Given the description of an element on the screen output the (x, y) to click on. 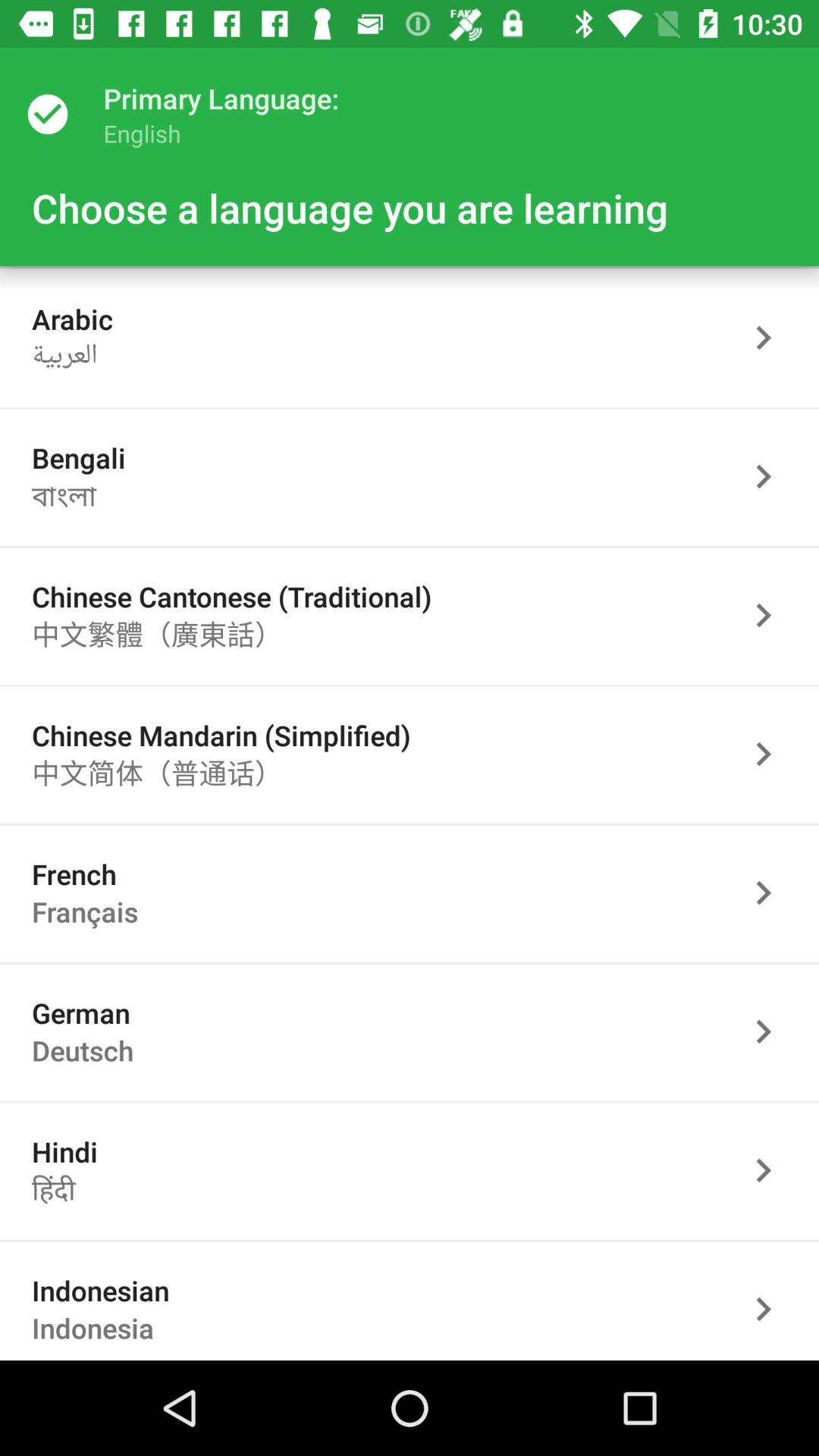
choose language (771, 892)
